Given the description of an element on the screen output the (x, y) to click on. 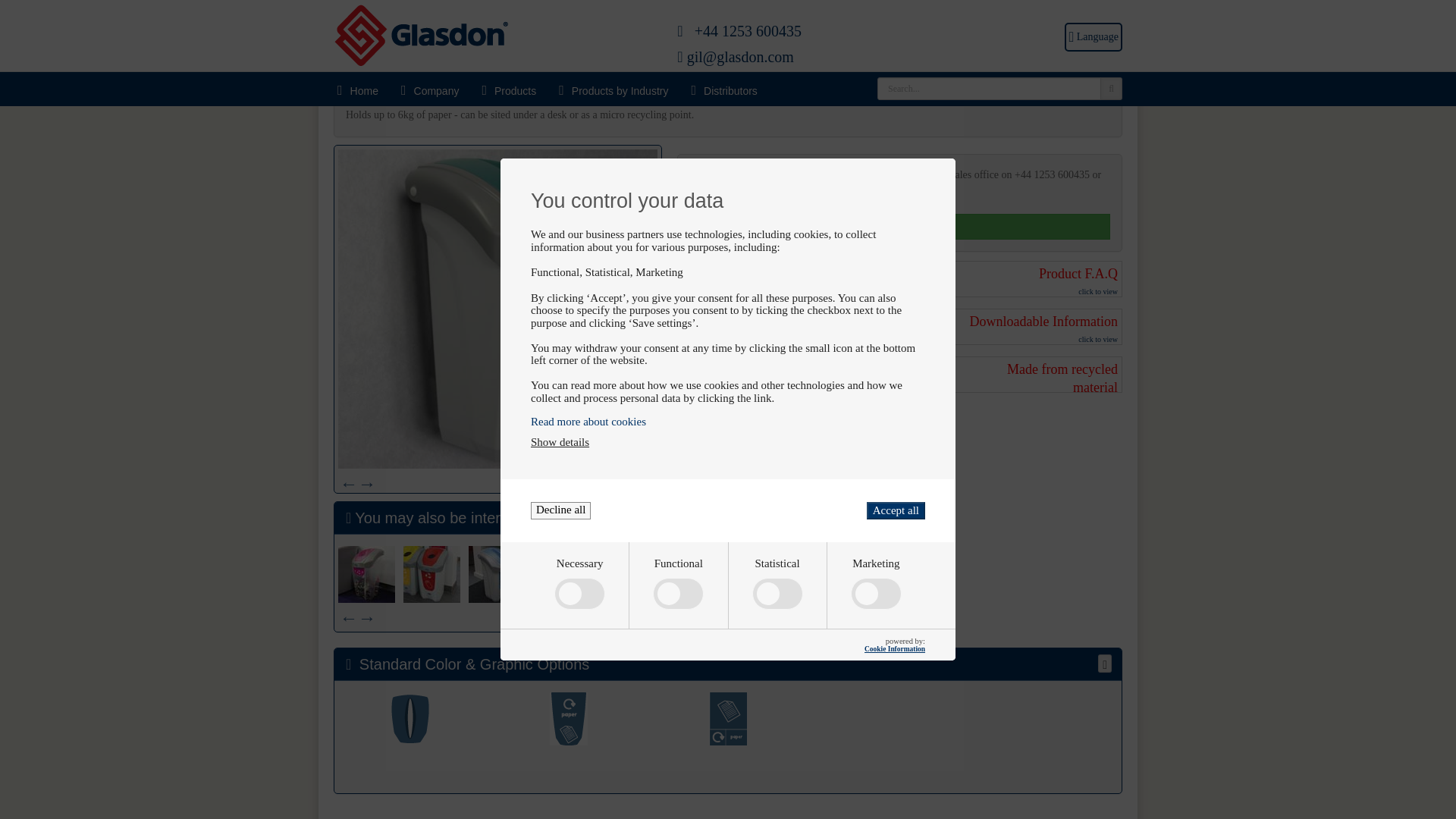
Accept all (895, 404)
Decline all (561, 404)
Read more about cookies (727, 315)
Show details (560, 336)
Cookie Information (894, 542)
